Given the description of an element on the screen output the (x, y) to click on. 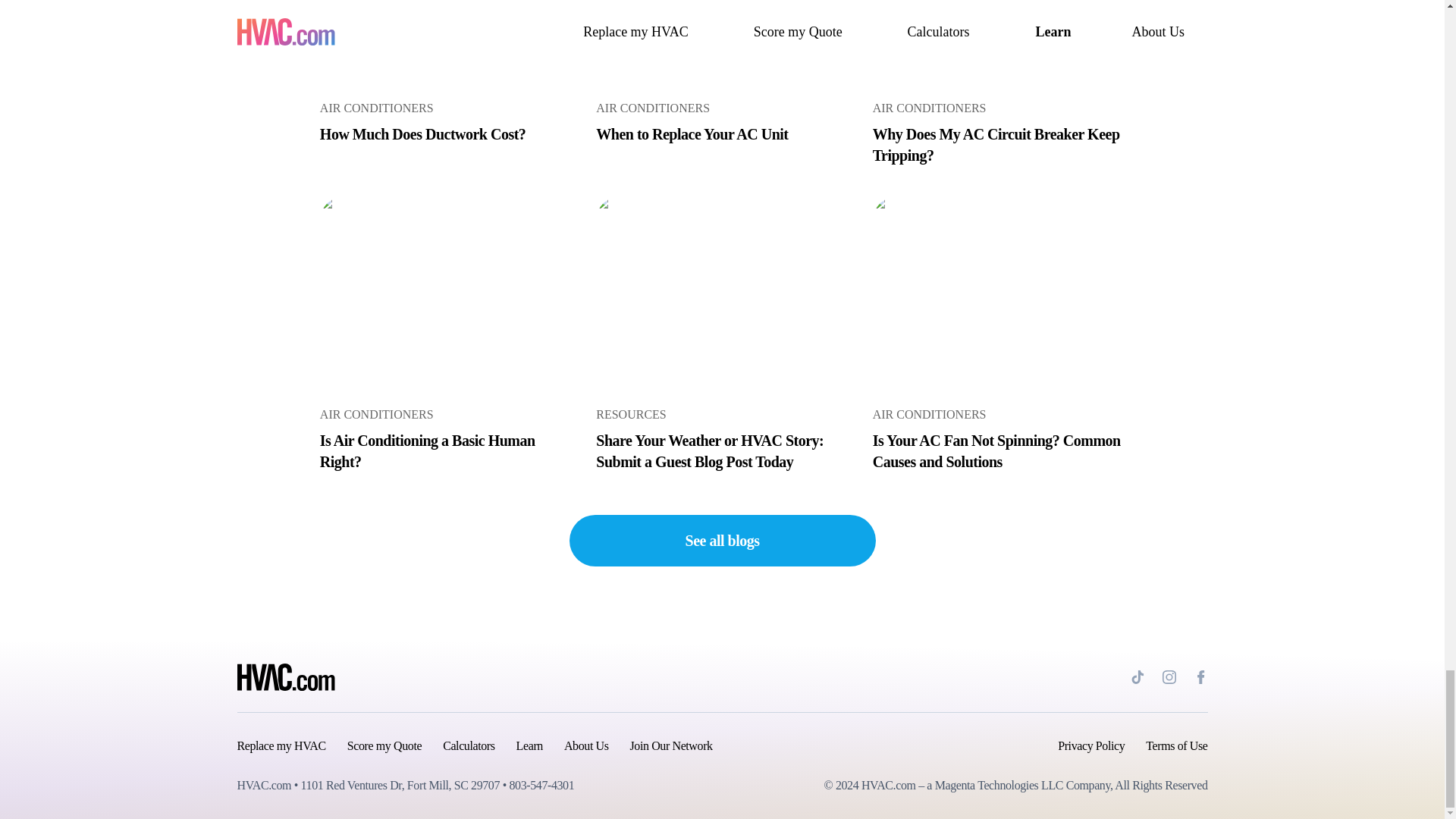
Terms of Use (1176, 745)
See all blogs (722, 540)
Privacy Policy (1091, 745)
Score my Quote (446, 72)
Replace my HVAC (721, 72)
About Us (384, 745)
Learn (279, 745)
Calculators (446, 334)
